Given the description of an element on the screen output the (x, y) to click on. 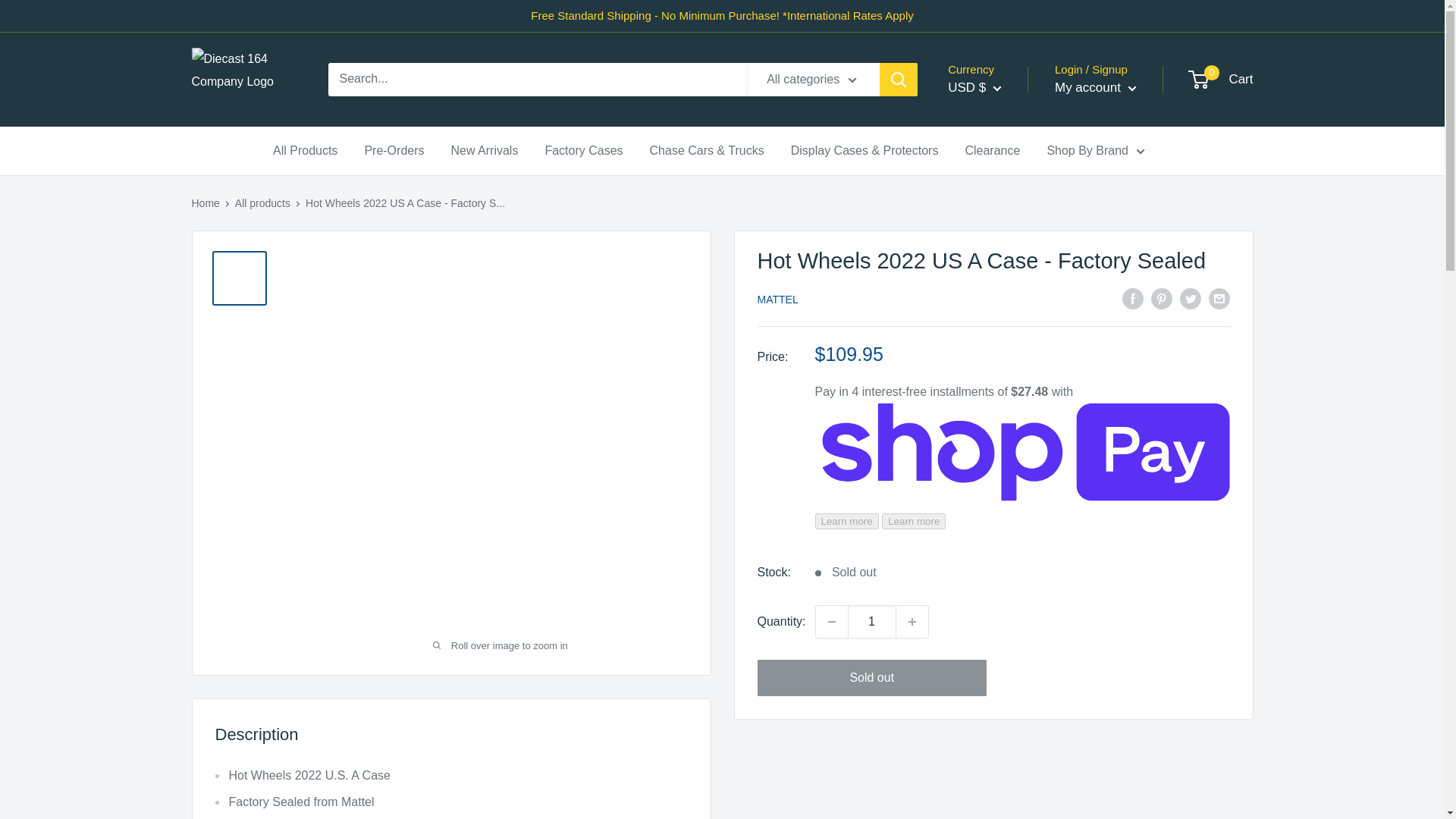
AED (998, 252)
Increase quantity by 1 (912, 622)
ALL (998, 275)
1 (871, 622)
Decrease quantity by 1 (831, 622)
Diecast 164, LLC (243, 79)
